Given the description of an element on the screen output the (x, y) to click on. 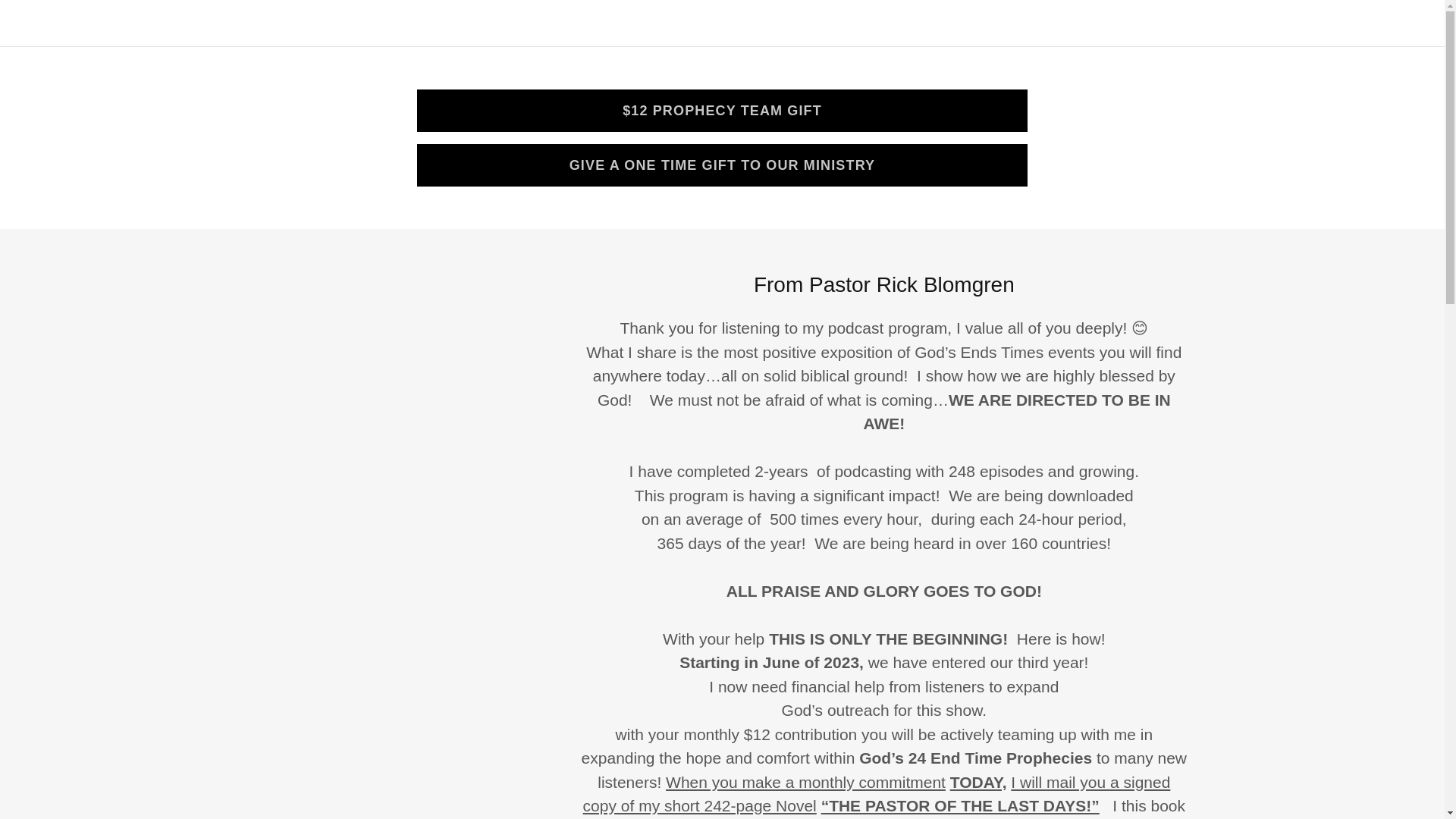
GIVE A ONE TIME GIFT TO OUR MINISTRY (721, 165)
